Given the description of an element on the screen output the (x, y) to click on. 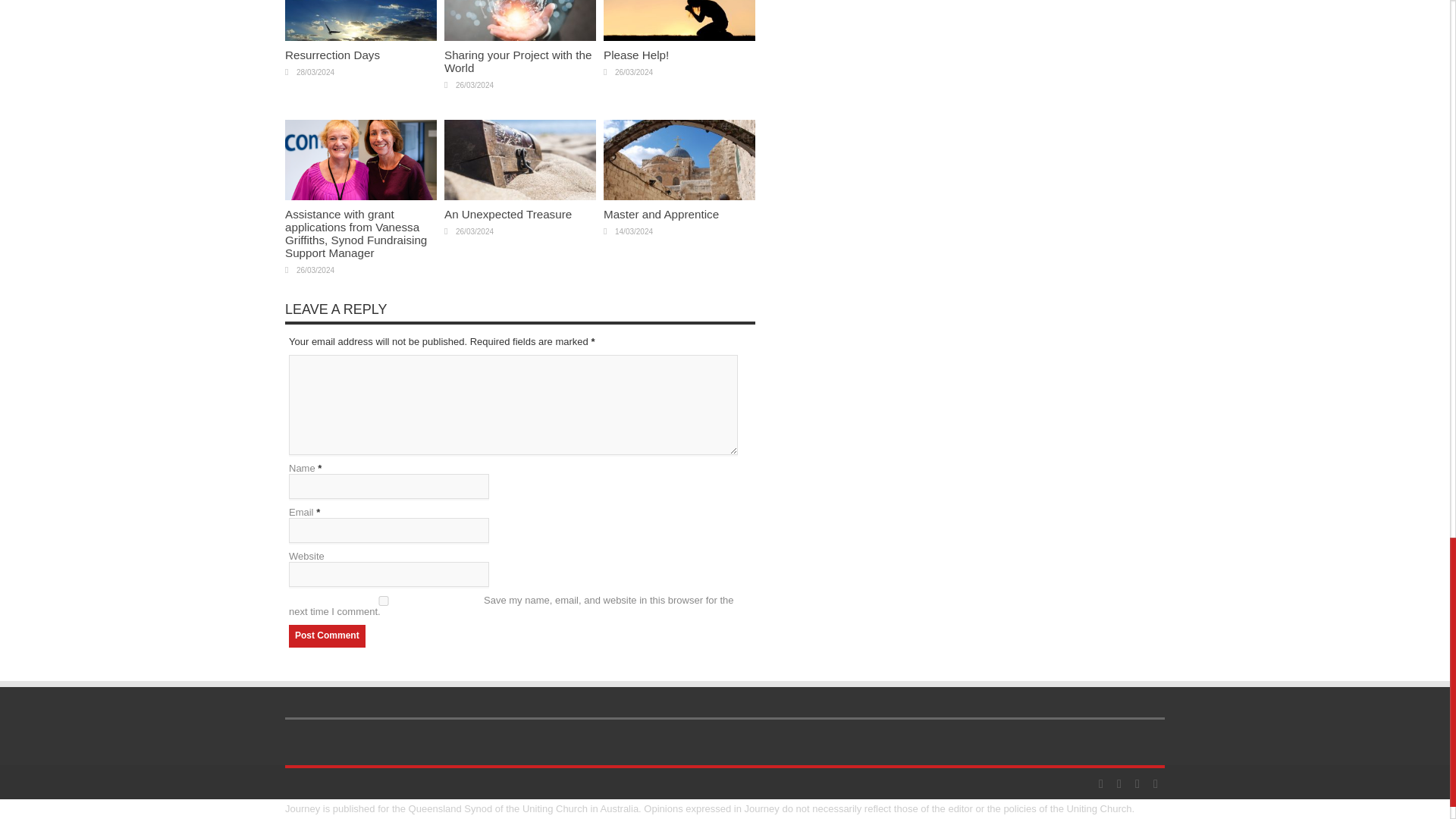
Post Comment (326, 635)
Permalink to Sharing your Project with the World (519, 37)
Permalink to Please Help! (636, 54)
Please Help! (636, 54)
Permalink to Master and Apprentice (679, 196)
yes (383, 601)
Permalink to An Unexpected Treasure (519, 196)
Permalink to Please Help! (679, 37)
Permalink to Resurrection Days (360, 37)
Permalink to Master and Apprentice (661, 214)
Permalink to An Unexpected Treasure (508, 214)
Resurrection Days (332, 54)
